Given the description of an element on the screen output the (x, y) to click on. 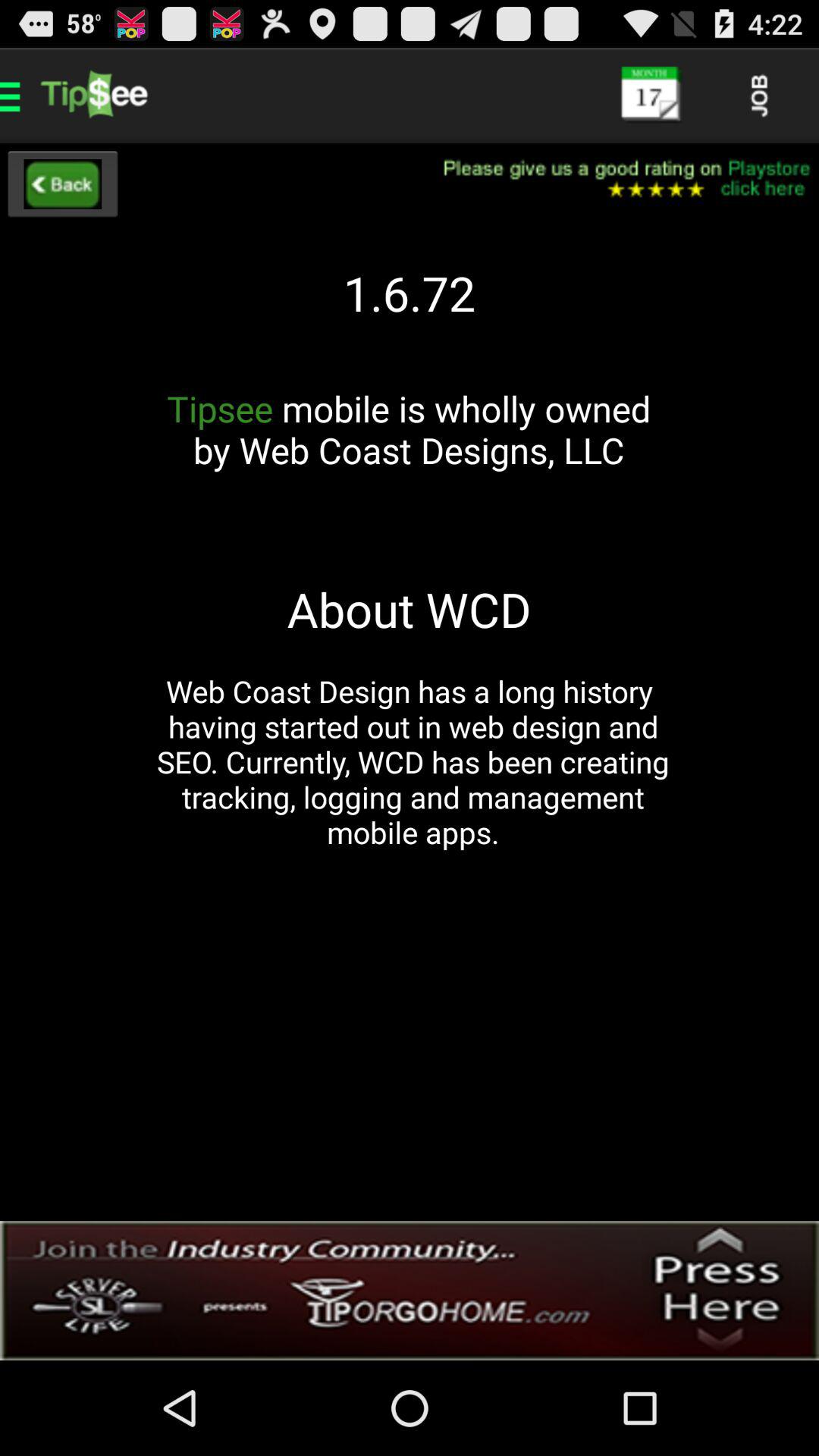
turn off icon at the bottom (409, 1290)
